Given the description of an element on the screen output the (x, y) to click on. 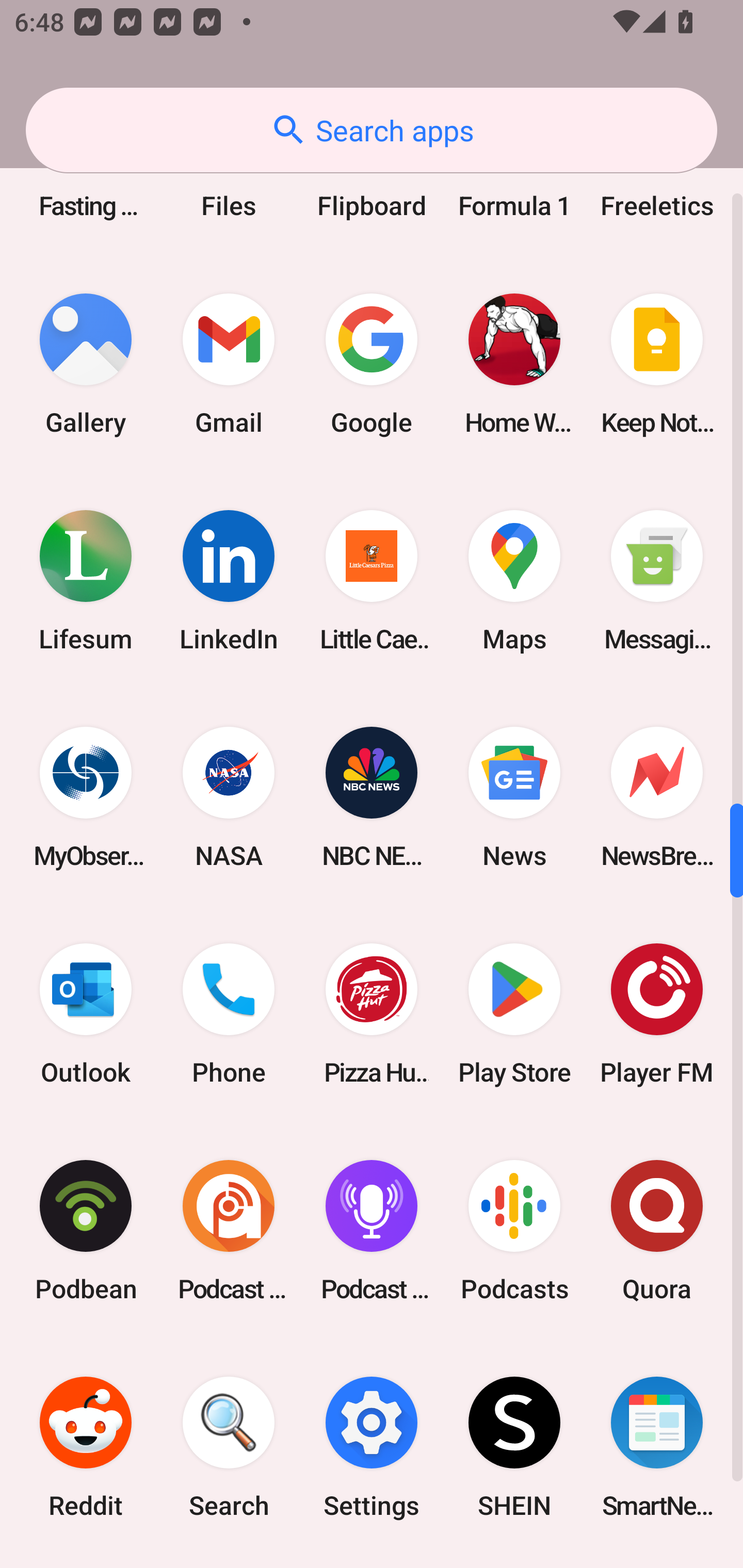
  Search apps (371, 130)
Gallery (85, 363)
Gmail (228, 363)
Google (371, 363)
Home Workout (514, 363)
Keep Notes (656, 363)
Lifesum (85, 579)
LinkedIn (228, 579)
Little Caesars Pizza (371, 579)
Maps (514, 579)
Messaging (656, 579)
MyObservatory (85, 797)
NASA (228, 797)
NBC NEWS (371, 797)
News (514, 797)
NewsBreak (656, 797)
Outlook (85, 1014)
Phone (228, 1014)
Pizza Hut HK & Macau (371, 1014)
Play Store (514, 1014)
Player FM (656, 1014)
Podbean (85, 1230)
Podcast Addict (228, 1230)
Podcast Player (371, 1230)
Podcasts (514, 1230)
Quora (656, 1230)
Reddit (85, 1447)
Search (228, 1447)
Settings (371, 1447)
SHEIN (514, 1447)
SmartNews (656, 1447)
